Given the description of an element on the screen output the (x, y) to click on. 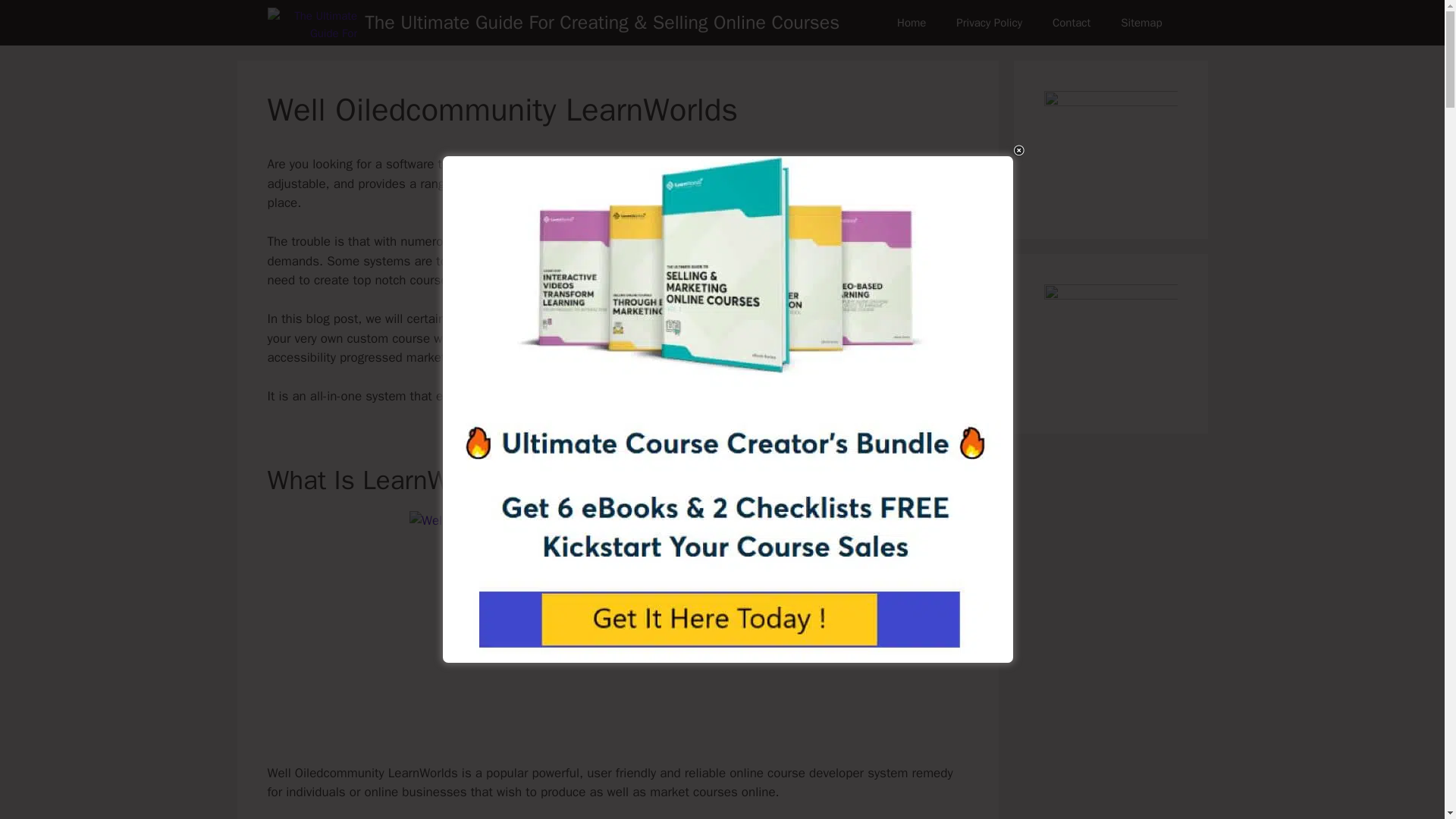
Contact (1070, 22)
Privacy Policy (988, 22)
Close (1019, 150)
Home (911, 22)
Sitemap (1140, 22)
